Given the description of an element on the screen output the (x, y) to click on. 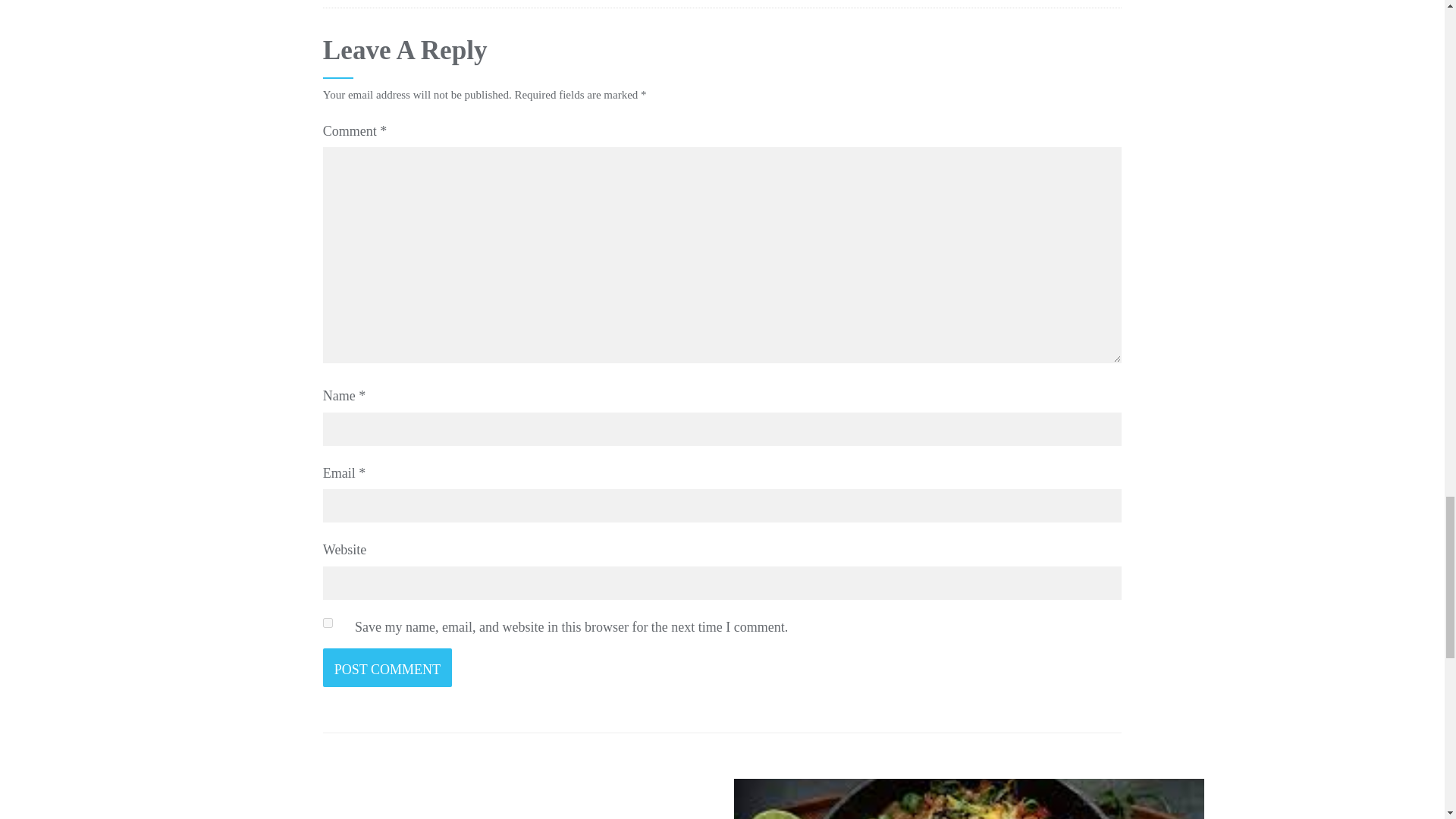
Post Comment (387, 667)
yes (328, 623)
Post Comment (387, 667)
